Given the description of an element on the screen output the (x, y) to click on. 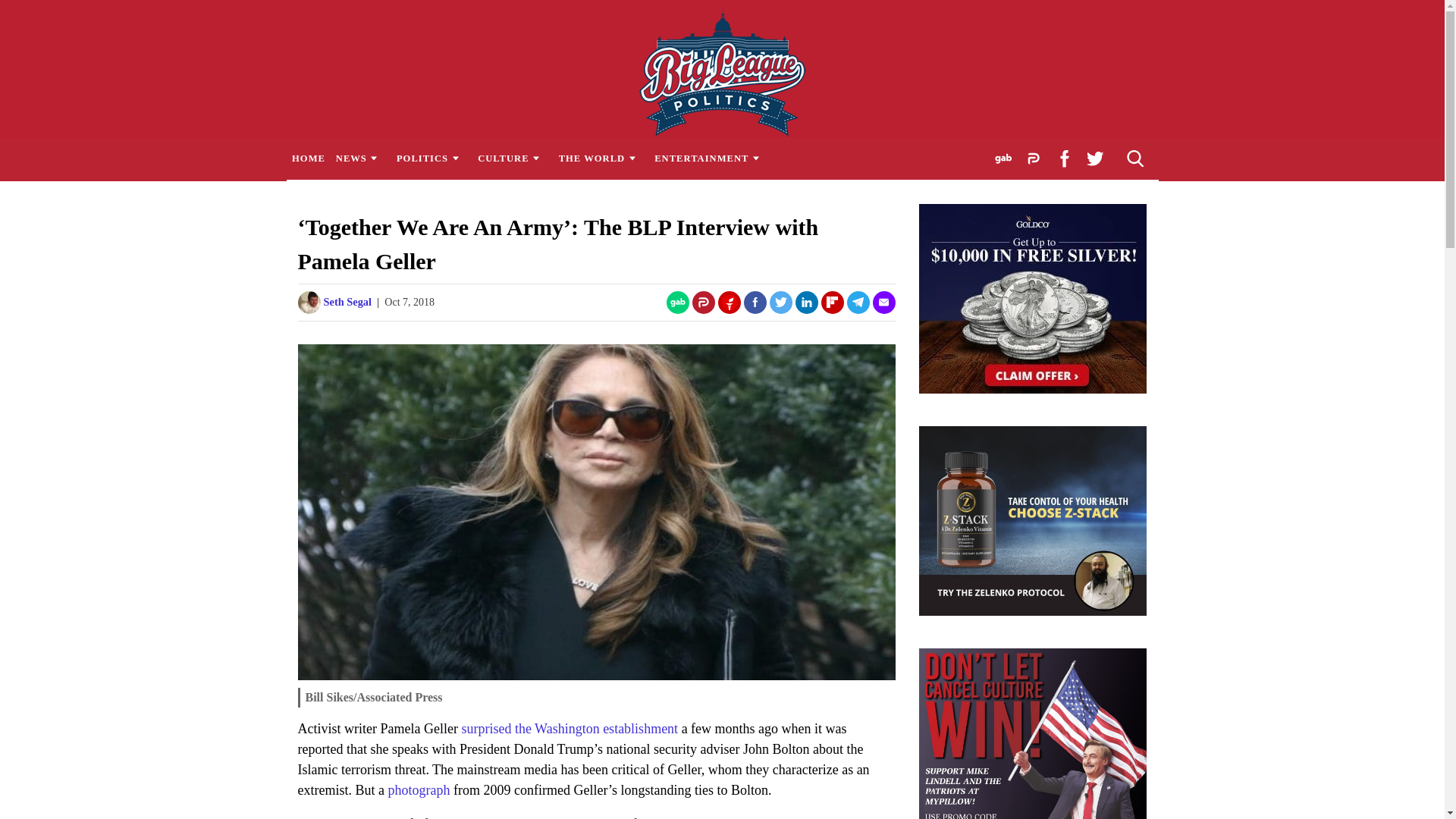
Posts by Seth Segal (347, 302)
ENTERTAINMENT (711, 158)
THE WORLD (601, 158)
HOME (308, 158)
POLITICS (430, 158)
NEWS (360, 158)
CULTURE (512, 158)
